Given the description of an element on the screen output the (x, y) to click on. 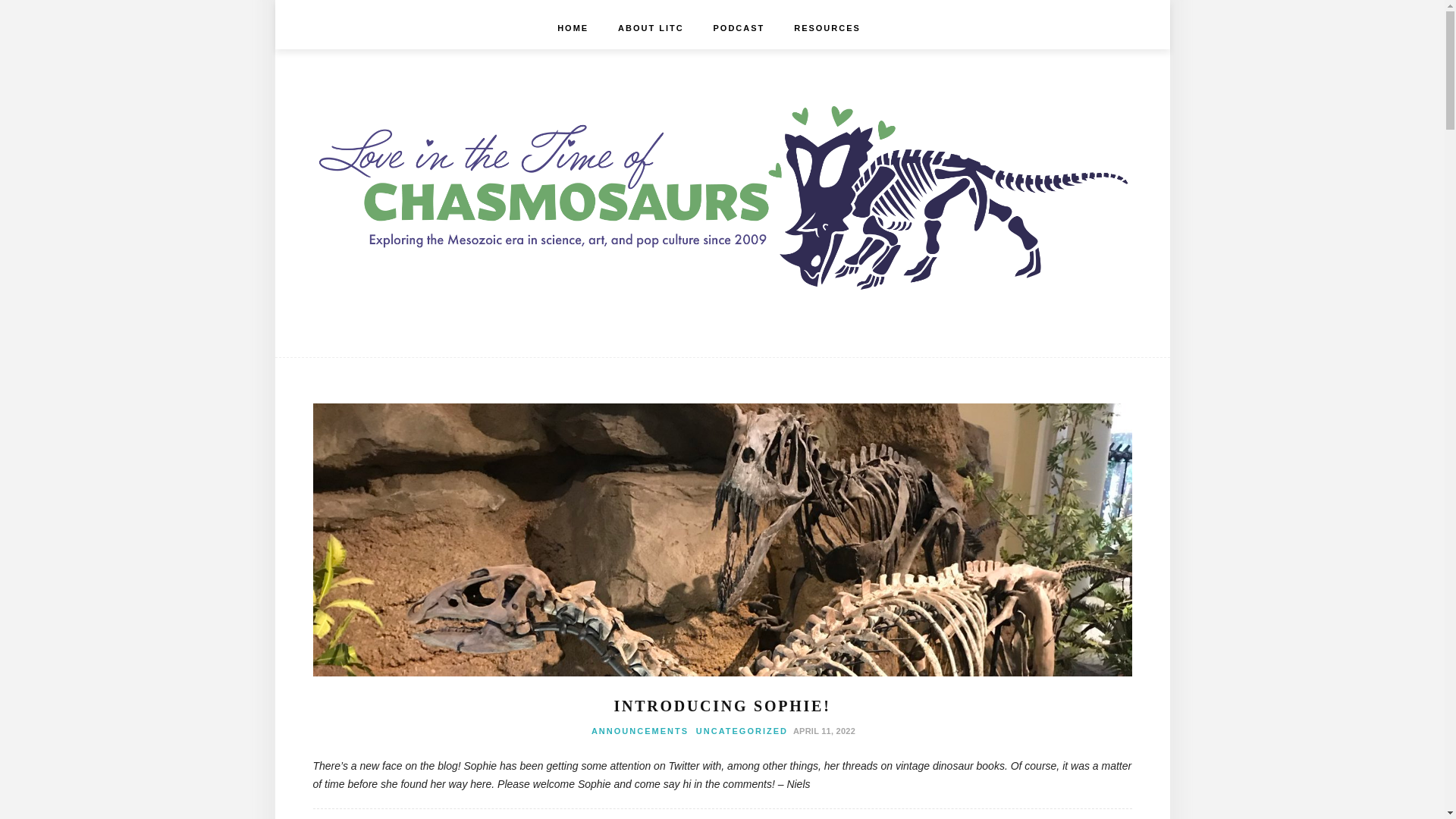
ANNOUNCEMENTS (639, 730)
PODCAST (739, 28)
ABOUT LITC (650, 28)
RESOURCES (826, 28)
UNCATEGORIZED (741, 730)
